Given the description of an element on the screen output the (x, y) to click on. 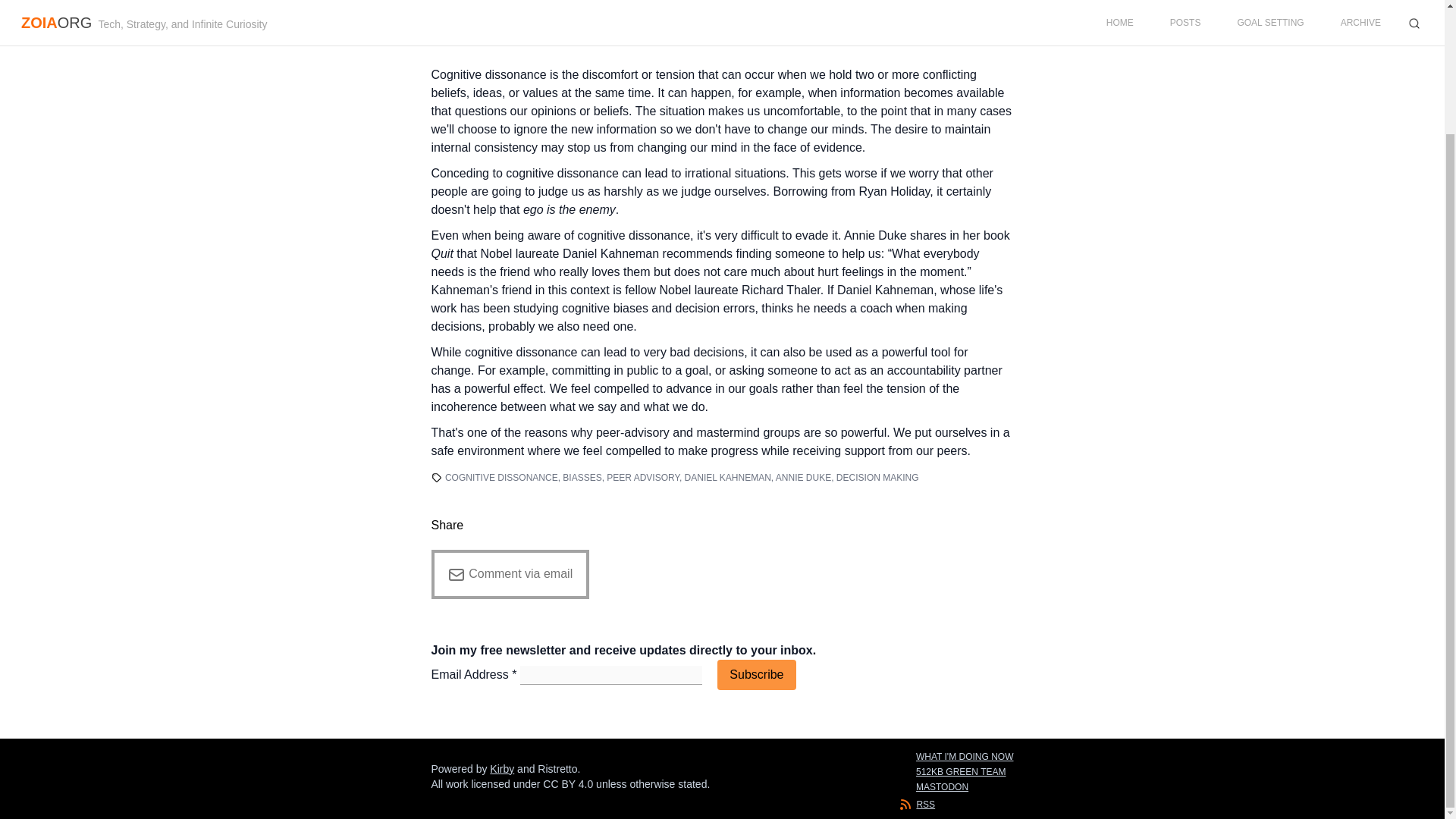
Kirby (501, 768)
RSS (924, 804)
512KB GREEN TEAM (964, 771)
Subscribe (755, 675)
Comment via email (509, 573)
MASTODON (964, 786)
Subscribe (755, 675)
WHAT I'M DOING NOW (964, 756)
